Given the description of an element on the screen output the (x, y) to click on. 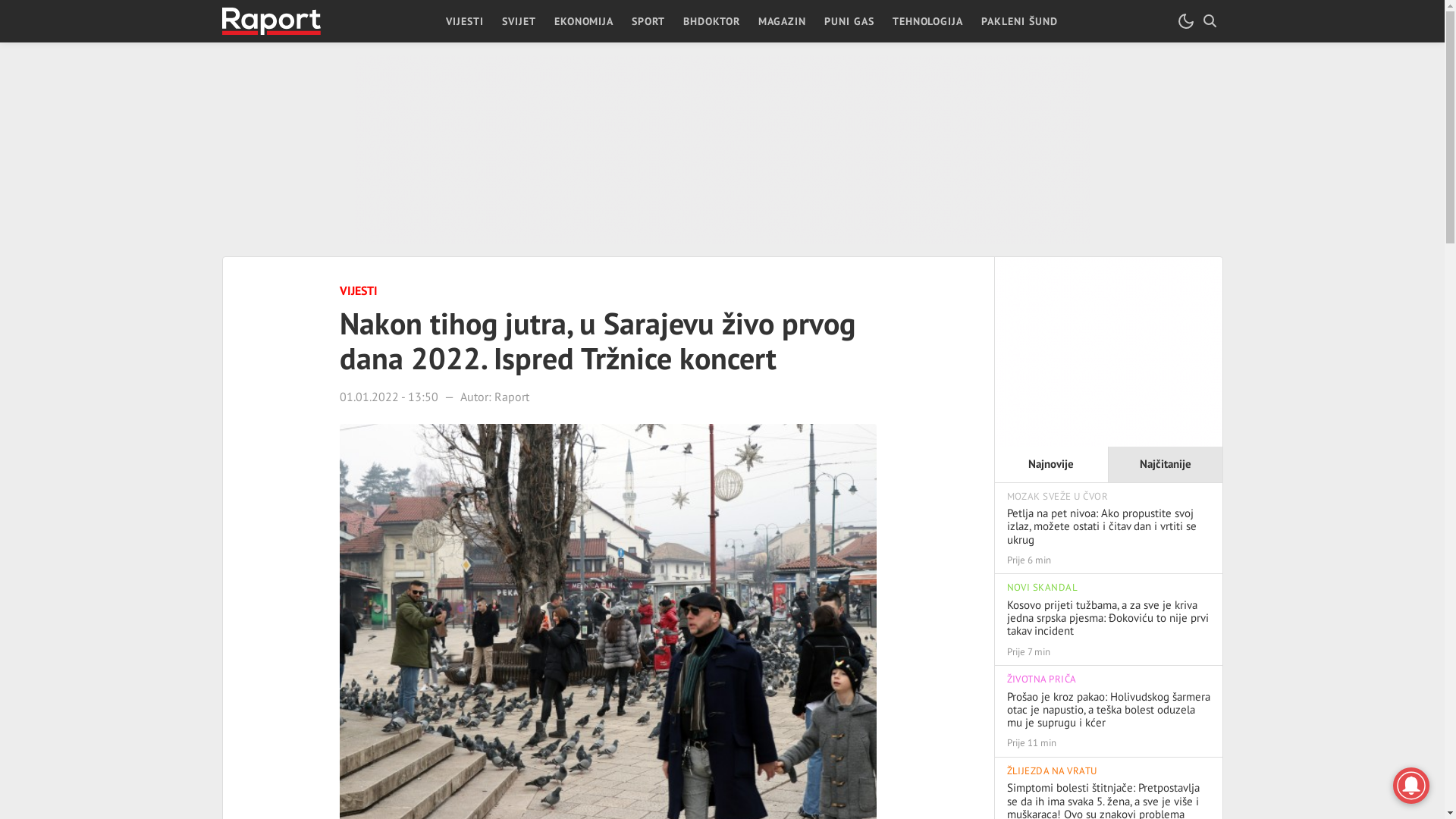
Otvori/zatvori pretragu Element type: hover (1210, 21)
3rd party ad content Element type: hover (1108, 351)
MAGAZIN Element type: text (782, 21)
EKONOMIJA Element type: text (584, 21)
3rd party ad content Element type: hover (722, 149)
VIJESTI Element type: text (464, 21)
PUNI GAS Element type: text (849, 21)
BHDOKTOR Element type: text (711, 21)
SPORT Element type: text (648, 21)
Promjeni temu Element type: hover (1185, 21)
SVIJET Element type: text (518, 21)
TEHNOLOGIJA Element type: text (927, 21)
